Given the description of an element on the screen output the (x, y) to click on. 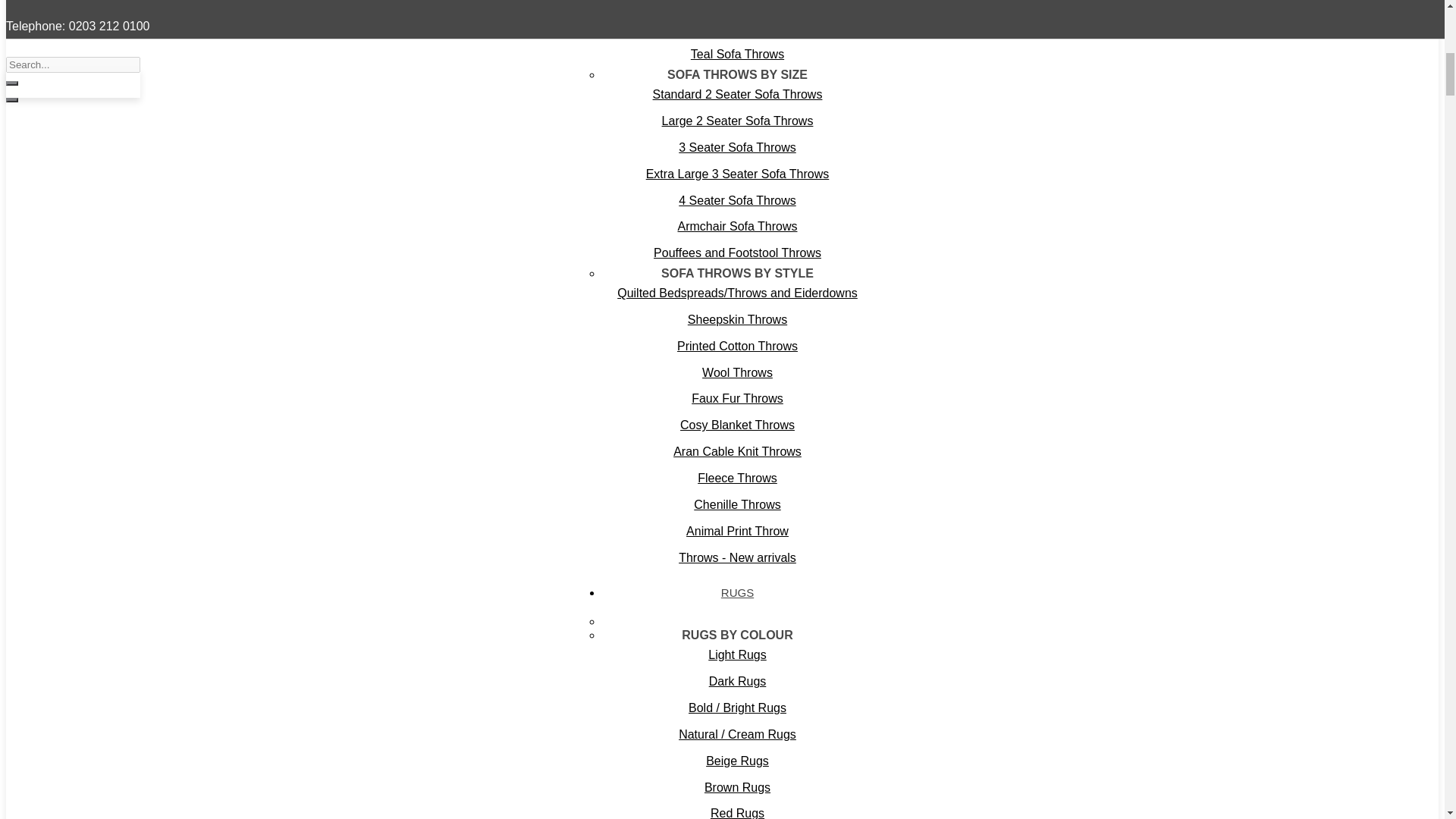
3 Seater Sofa Throws (737, 148)
Pouffees and Footstool Throws (737, 253)
Standard 2 Seater Sofa Throws (737, 94)
Large 2 Seater Sofa Throws (737, 121)
Teal Sofa Throws (737, 54)
4 Seater Sofa Throws (737, 201)
Grey Sofa Throws (737, 28)
White Sofa Throws (737, 7)
Armchair Sofa Throws (737, 226)
Extra Large 3 Seater Sofa Throws (737, 174)
